Given the description of an element on the screen output the (x, y) to click on. 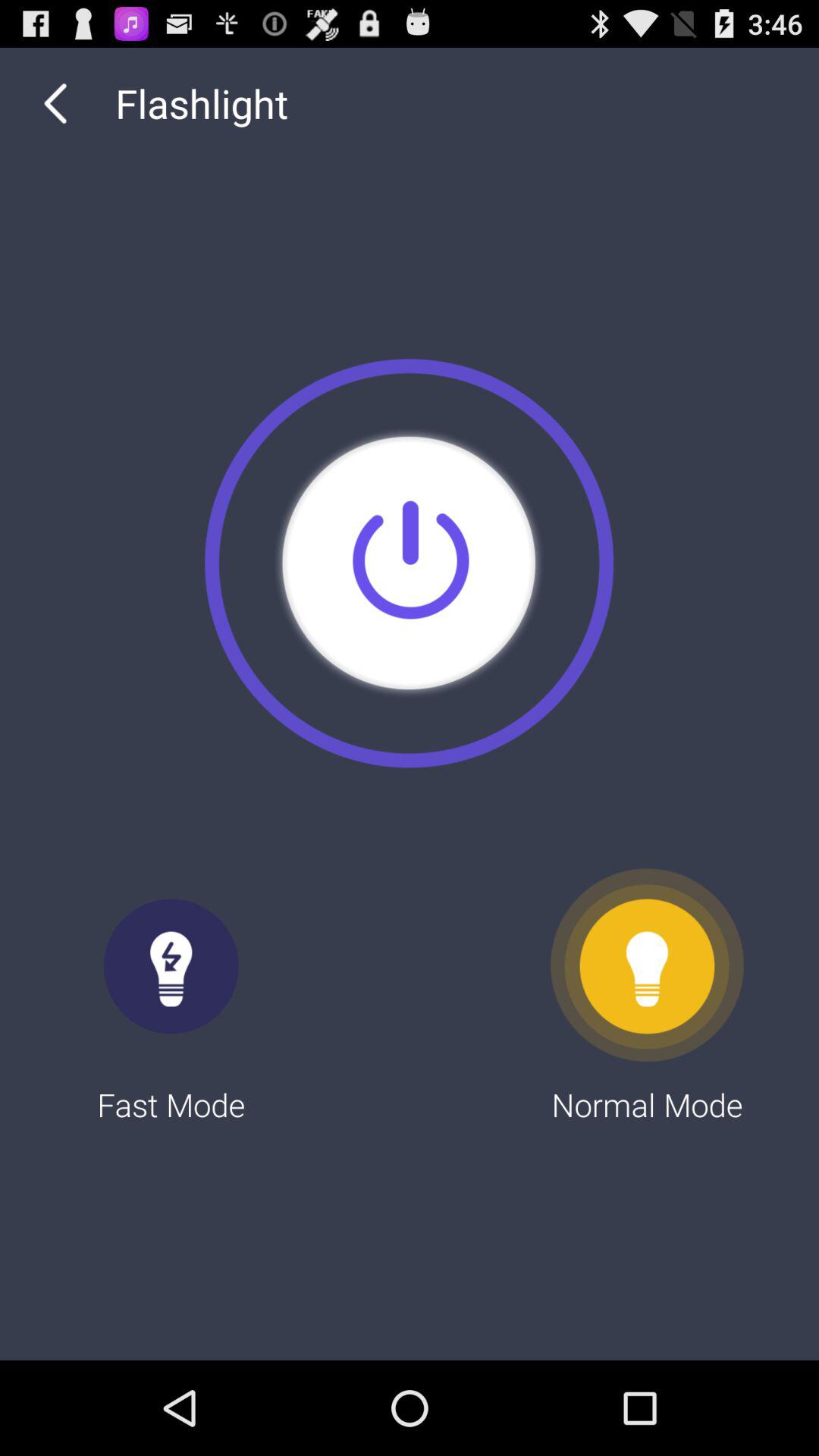
jump to the fast mode (171, 996)
